Given the description of an element on the screen output the (x, y) to click on. 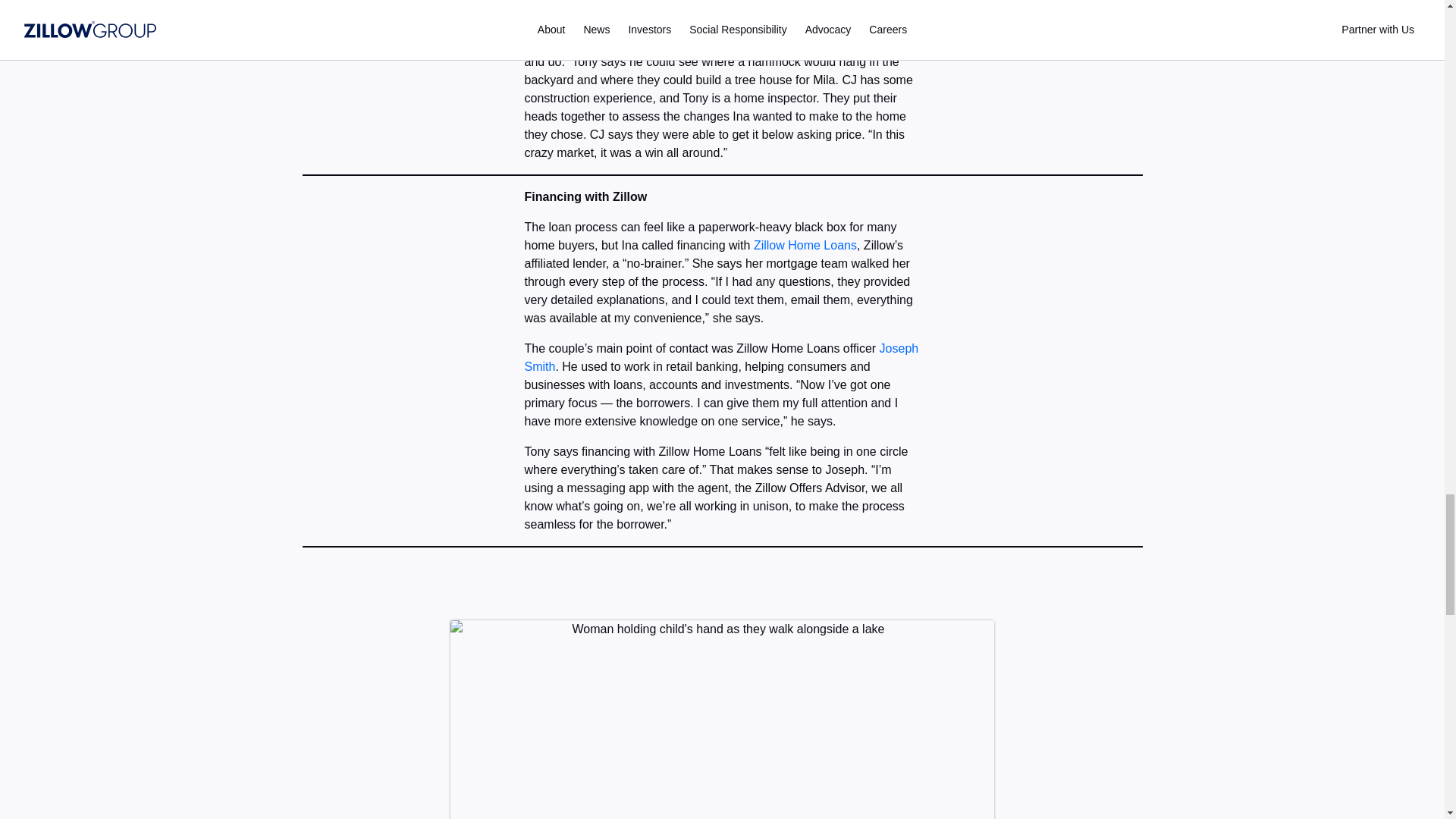
Zillow Home Loans (805, 245)
Joseph Smith (721, 357)
